Given the description of an element on the screen output the (x, y) to click on. 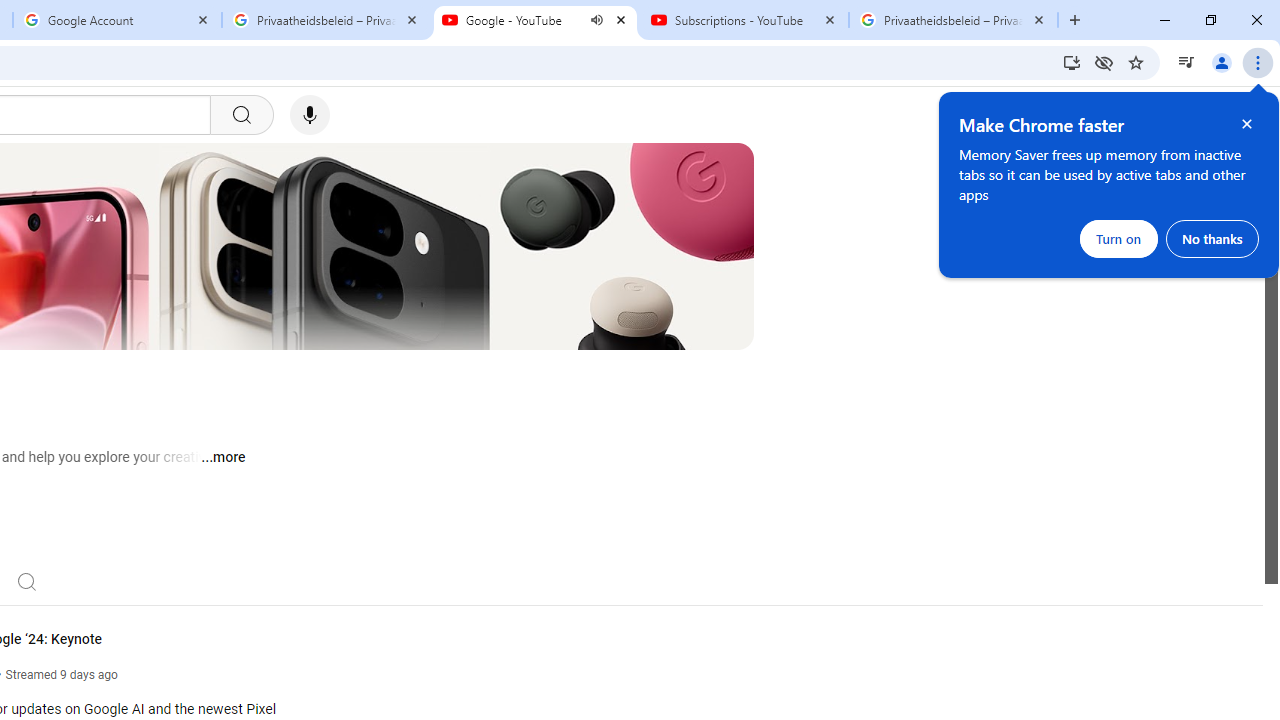
Settings (1119, 115)
Google Account (116, 20)
Close help bubble (1247, 124)
Mute tab (596, 20)
Google - YouTube - Audio playing (535, 20)
